Given the description of an element on the screen output the (x, y) to click on. 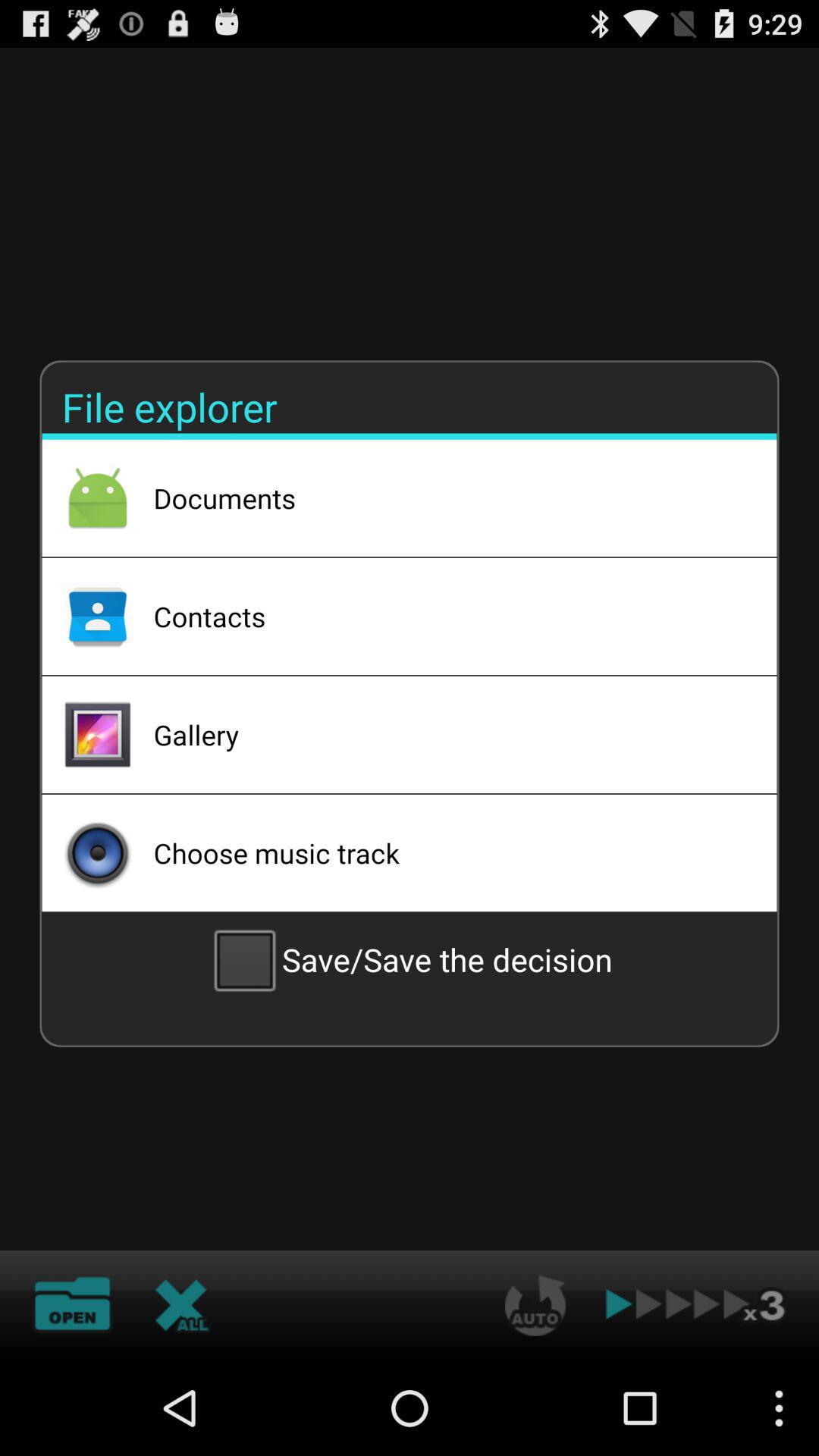
turn off the documents app (445, 497)
